Given the description of an element on the screen output the (x, y) to click on. 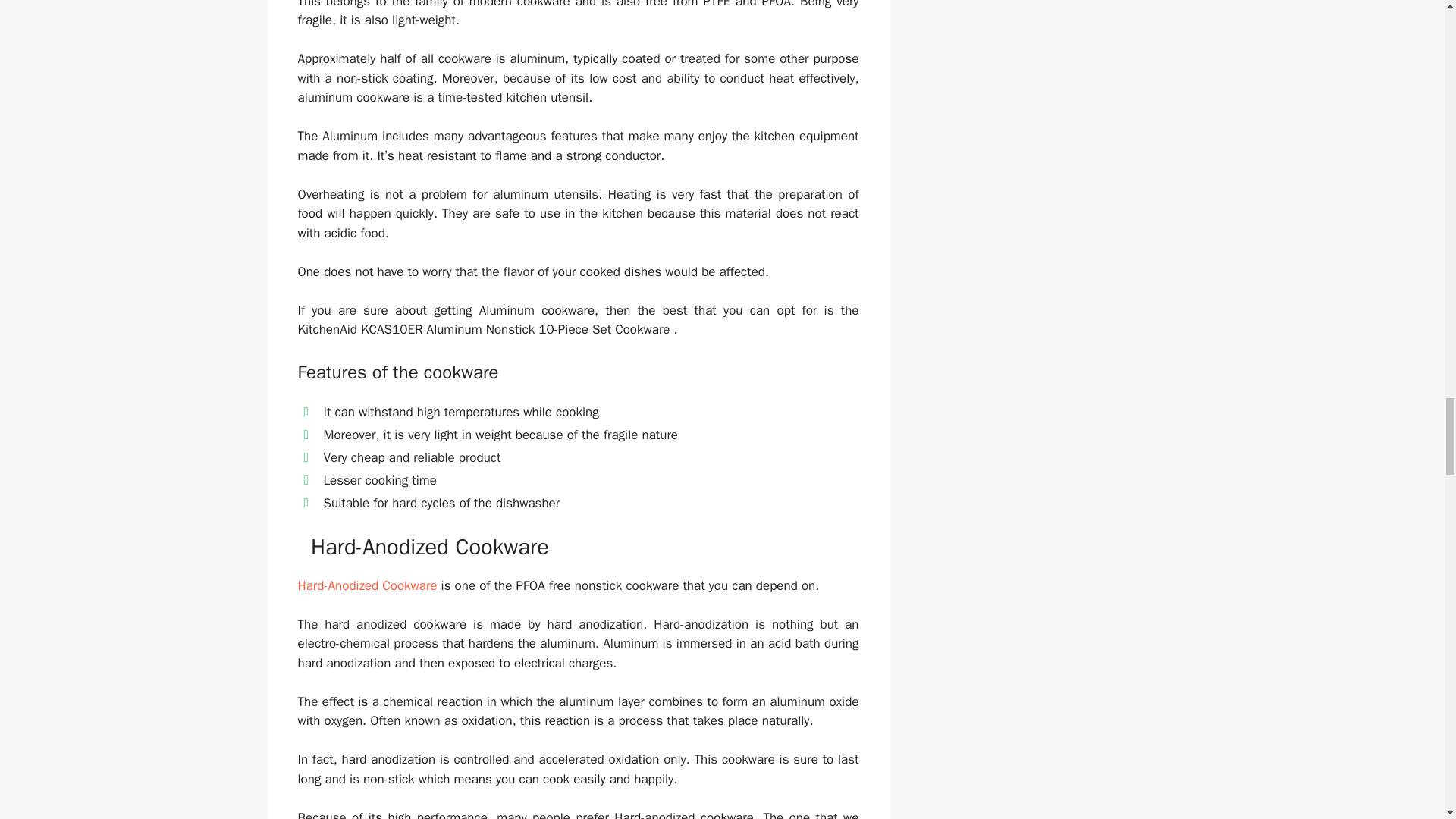
Hard-Anodized Cookware (366, 585)
